Given the description of an element on the screen output the (x, y) to click on. 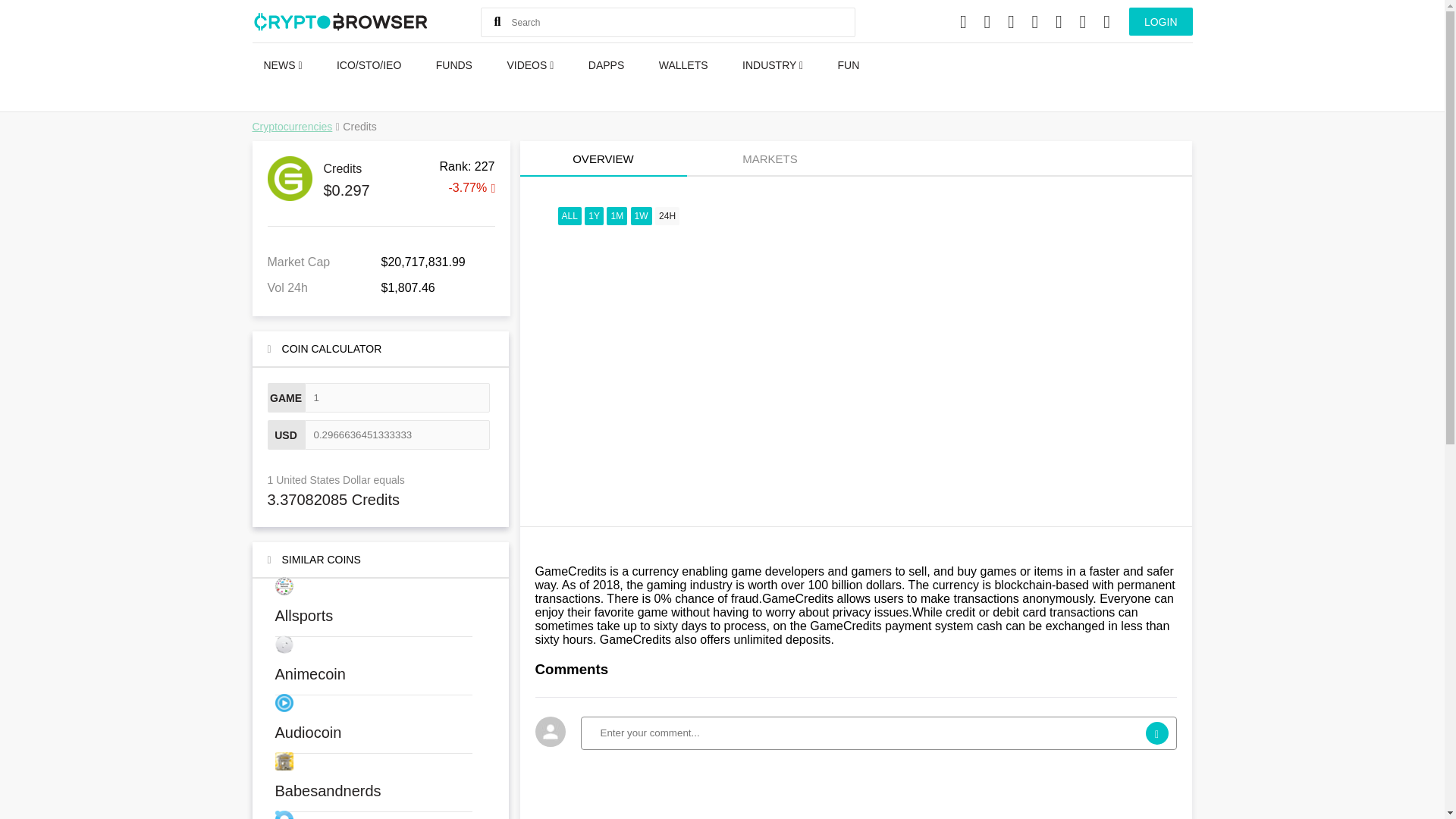
LOGIN (1160, 21)
NEWS (282, 63)
VIDEOS (529, 63)
WALLETS (683, 63)
FUN (848, 63)
FUNDS (454, 63)
DAPPS (605, 63)
Cryptocurrencies (291, 126)
INDUSTRY (771, 63)
Allsports (379, 607)
